Given the description of an element on the screen output the (x, y) to click on. 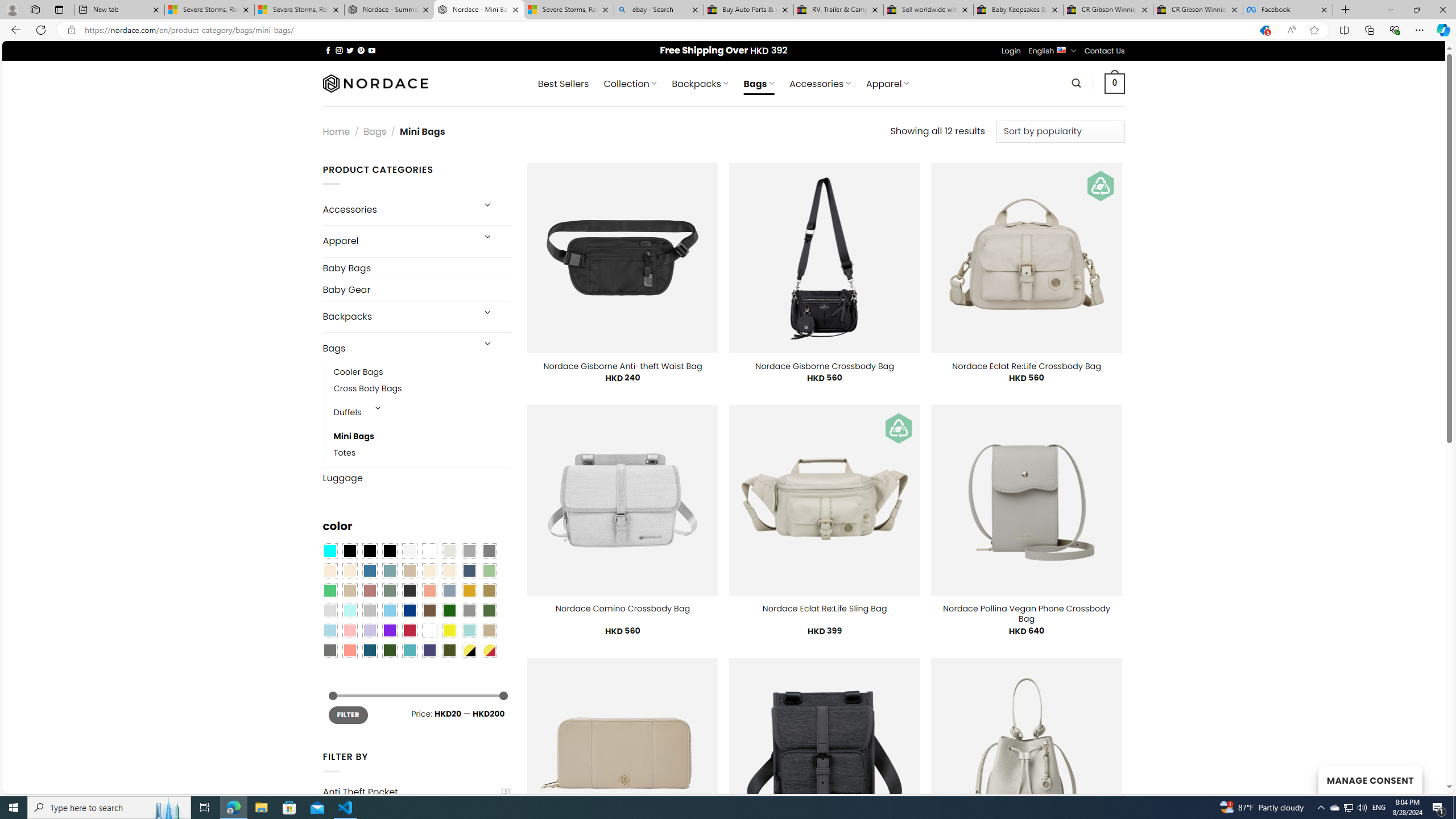
Anti Theft Pocket (410, 791)
Beige (329, 570)
Totes (422, 452)
Blue (369, 570)
Contact Us (1104, 50)
Light Purple (369, 630)
Mint (349, 610)
Black (369, 550)
Follow on Facebook (327, 49)
Yellow-Red (488, 649)
Caramel (429, 570)
This site has coupons! Shopping in Microsoft Edge, 5 (1263, 29)
